Given the description of an element on the screen output the (x, y) to click on. 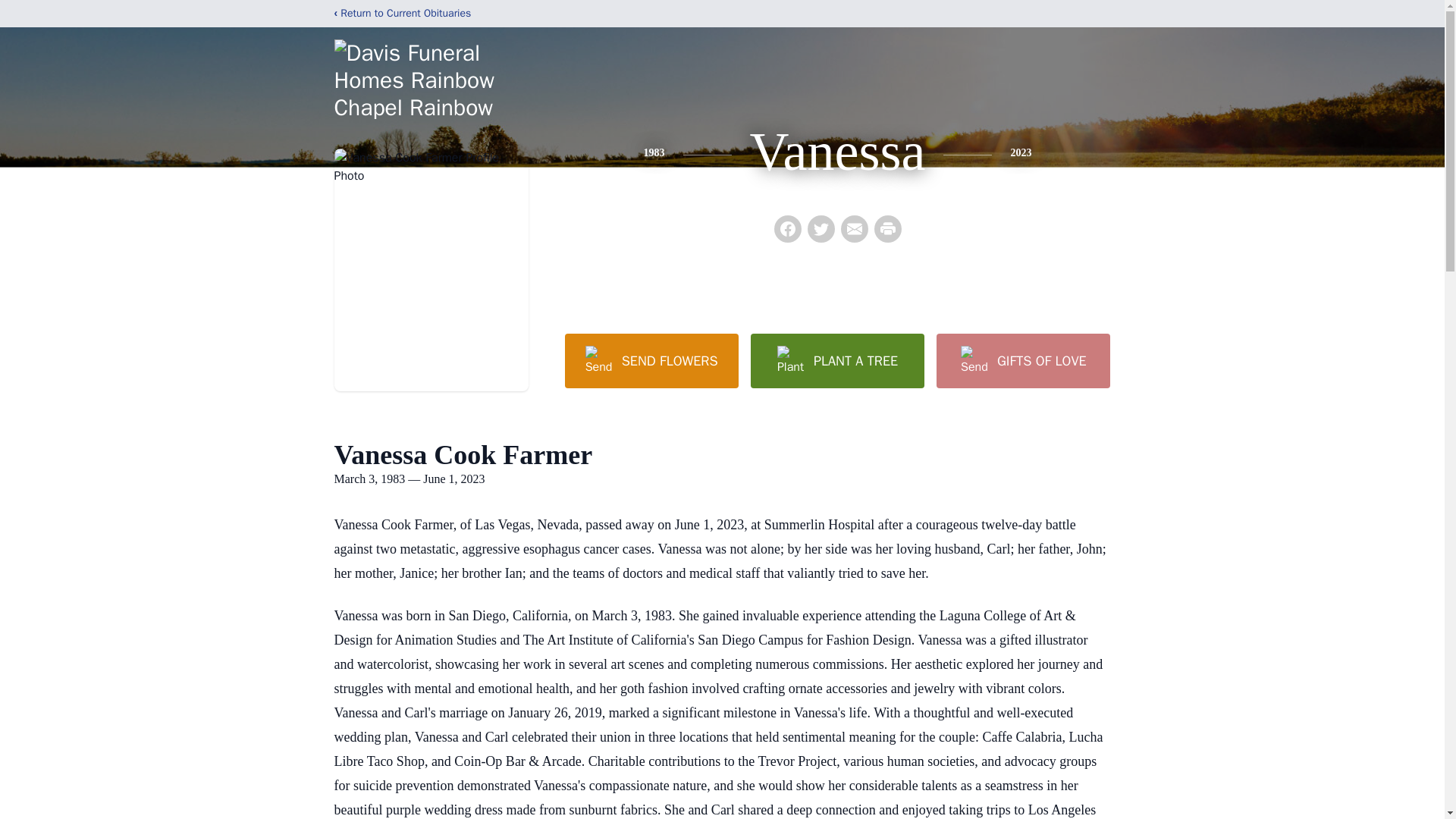
PLANT A TREE (837, 360)
GIFTS OF LOVE (1022, 360)
SEND FLOWERS (651, 360)
